Given the description of an element on the screen output the (x, y) to click on. 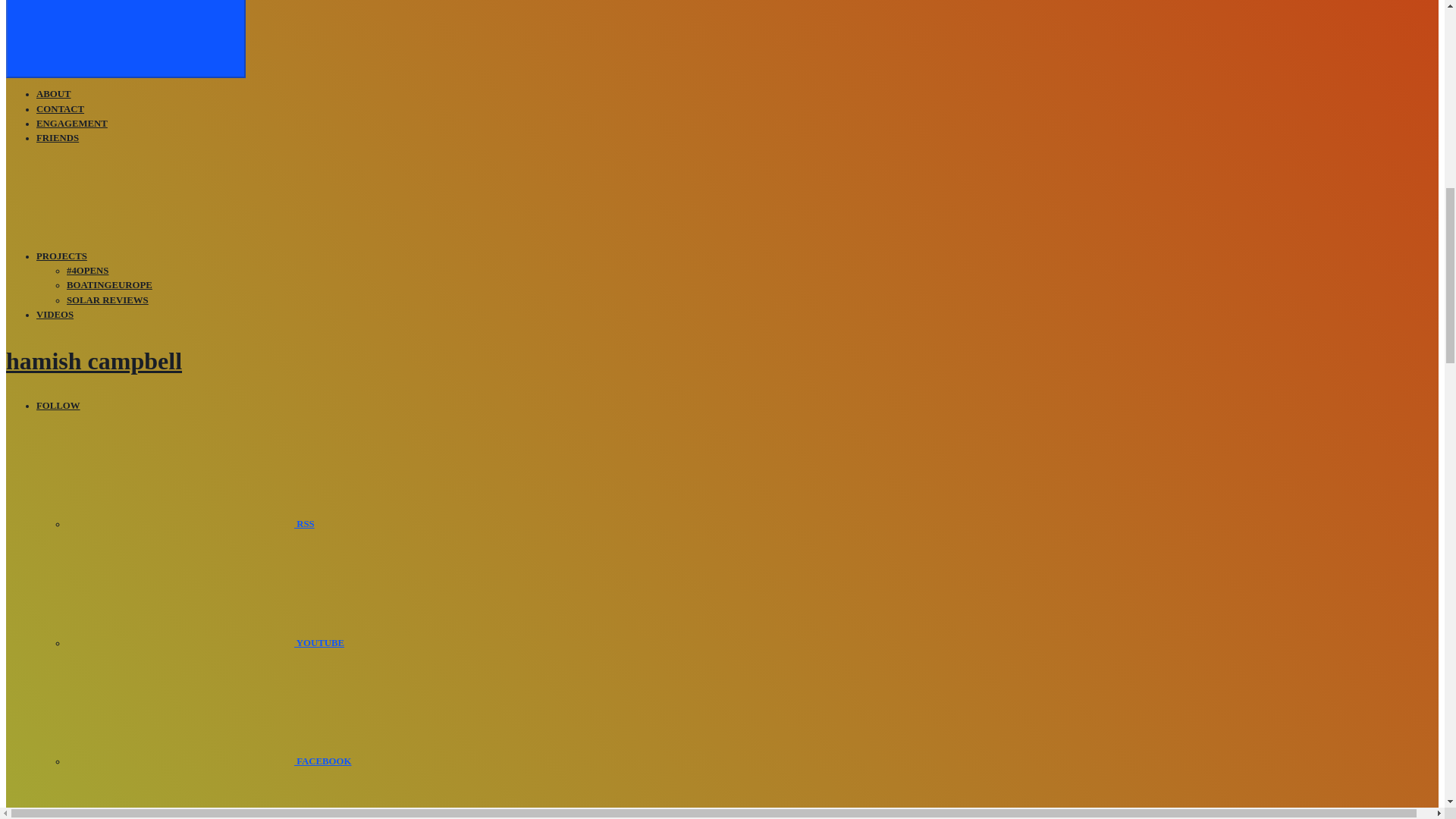
SOLAR REVIEWS (107, 299)
ENGAGEMENT (71, 122)
ABOUT (53, 93)
YOUTUBE (204, 643)
FOLLOW (58, 405)
FRIENDS (57, 137)
hamish campbell (93, 360)
CONTACT (60, 109)
VIDEOS (55, 314)
Hamish Campbell (93, 360)
